Given the description of an element on the screen output the (x, y) to click on. 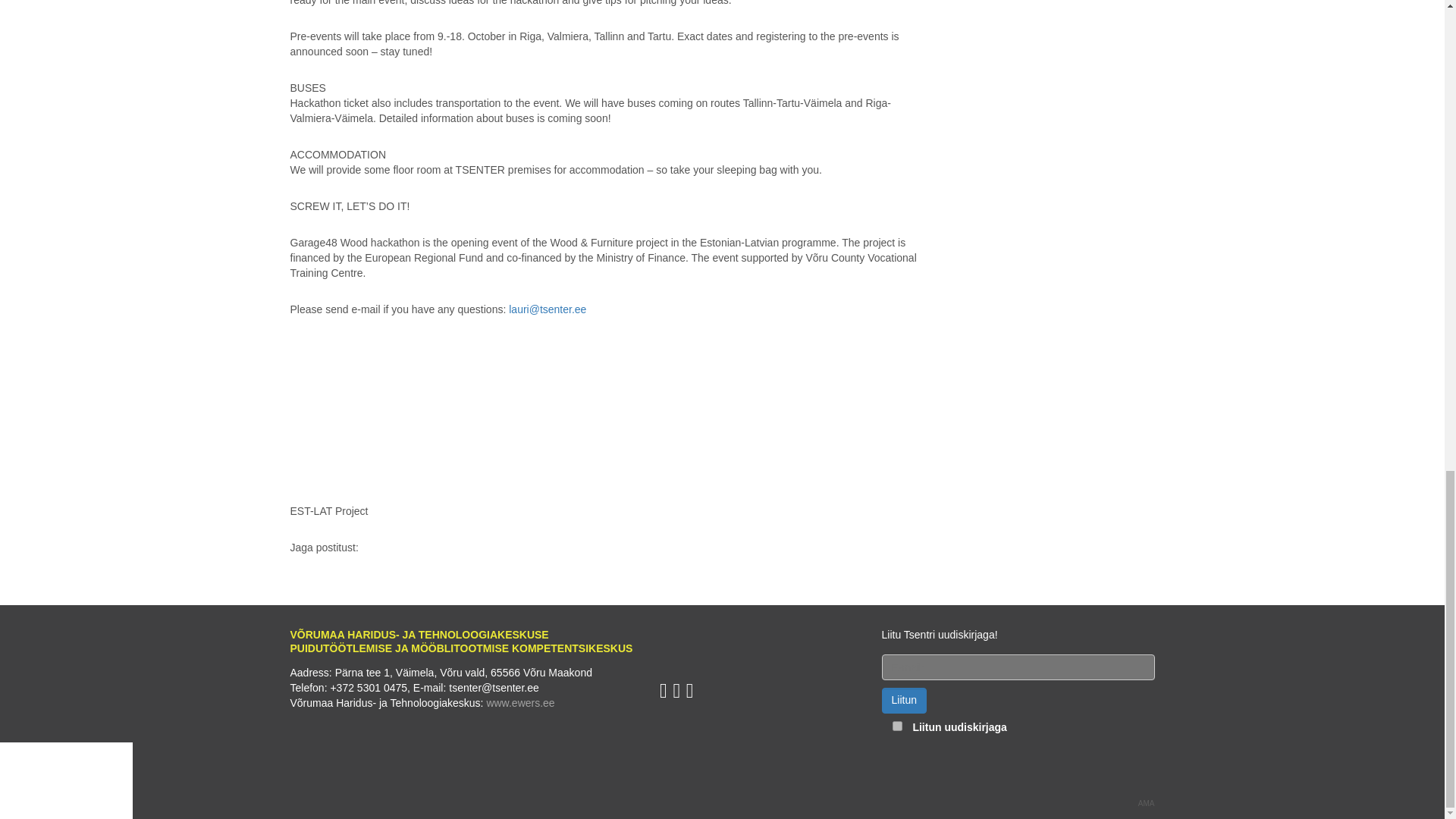
www.ewers.ee (520, 702)
Liitun (904, 700)
AMA (1146, 803)
1 (897, 726)
Kodulehe tegemine, kodulehe valmistamine (1146, 803)
Liitun (904, 700)
